Given the description of an element on the screen output the (x, y) to click on. 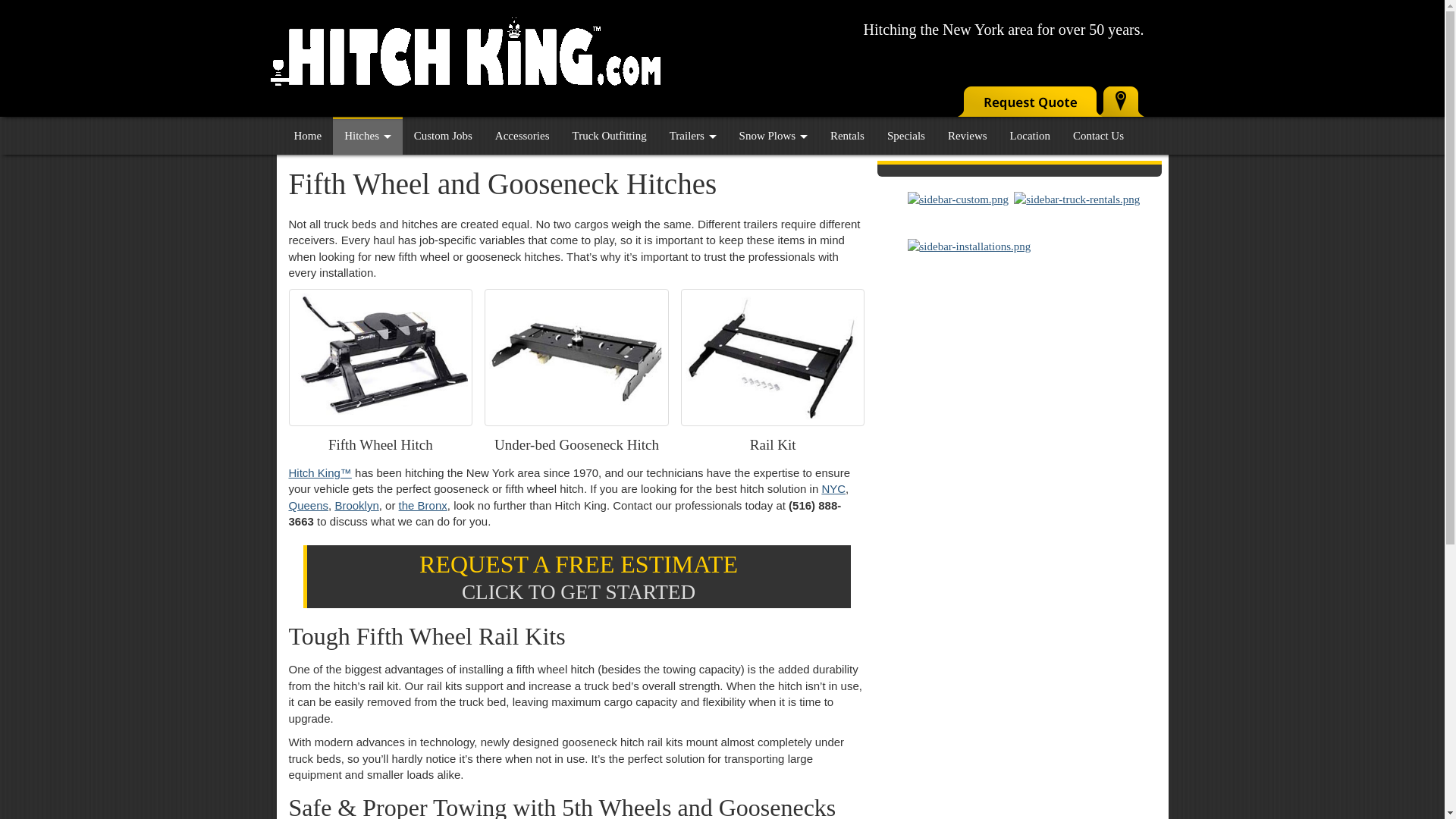
Moving Truck Rentals (847, 135)
Truck Outfitters (609, 135)
Customer Reviews (967, 135)
Hitch Accessories (521, 135)
Custom Hitch Solutions (443, 135)
Specials (906, 135)
